Given the description of an element on the screen output the (x, y) to click on. 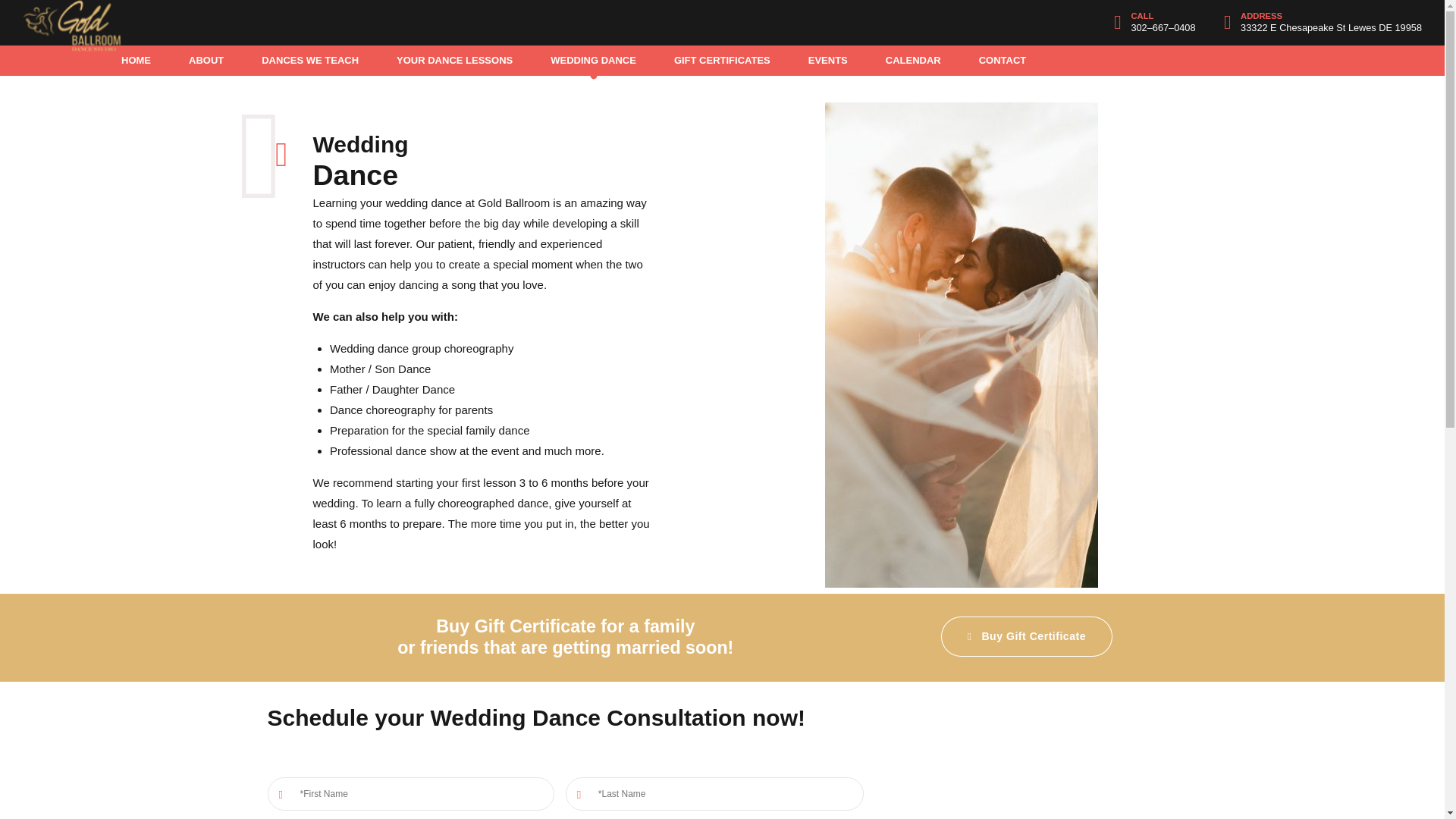
Buy Gift Certificate (1026, 636)
jakob-owens-mLIurLmSRAY-unsplash (961, 345)
GIFT CERTIFICATES (722, 60)
EVENTS (827, 60)
DANCES WE TEACH (310, 60)
WEDDING DANCE (593, 60)
ABOUT (206, 60)
YOUR DANCE LESSONS (454, 60)
HOME (135, 60)
